Given the description of an element on the screen output the (x, y) to click on. 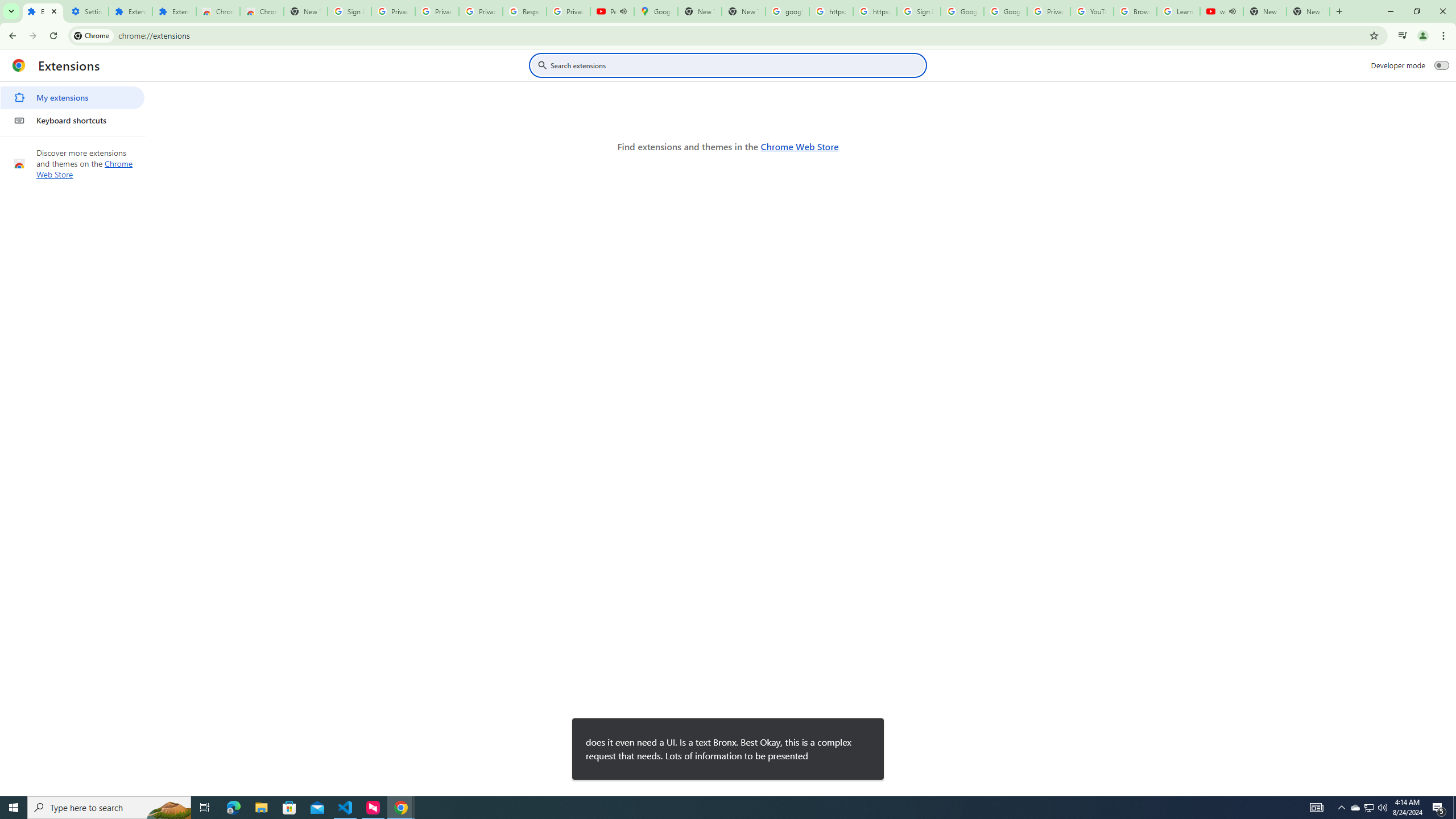
Mute tab (1232, 10)
Keyboard shortcuts (72, 119)
Extensions (42, 11)
AutomationID: sectionMenu (72, 106)
Settings (86, 11)
New Tab (1308, 11)
Browse Chrome as a guest - Computer - Google Chrome Help (1134, 11)
Sign in - Google Accounts (918, 11)
